Given the description of an element on the screen output the (x, y) to click on. 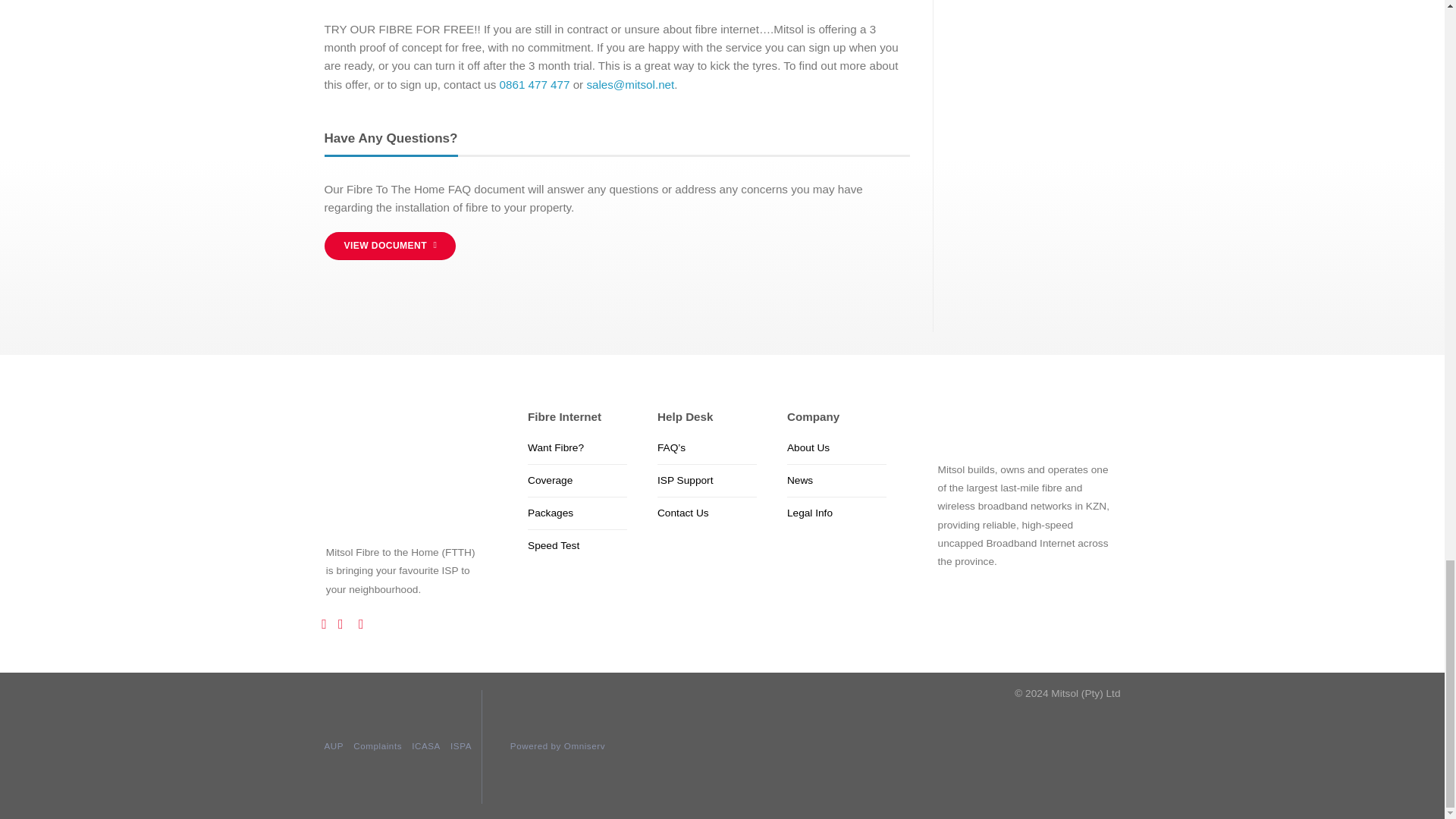
0861 477 477 (534, 83)
VIEW DOCUMENT (389, 245)
Packages (550, 513)
Follow on Instagram (344, 623)
Contact Us (683, 513)
Want Fibre? (555, 448)
ISP Support (685, 480)
Coverage (549, 480)
Speed Test (553, 545)
Follow on LinkedIn (365, 623)
